Given the description of an element on the screen output the (x, y) to click on. 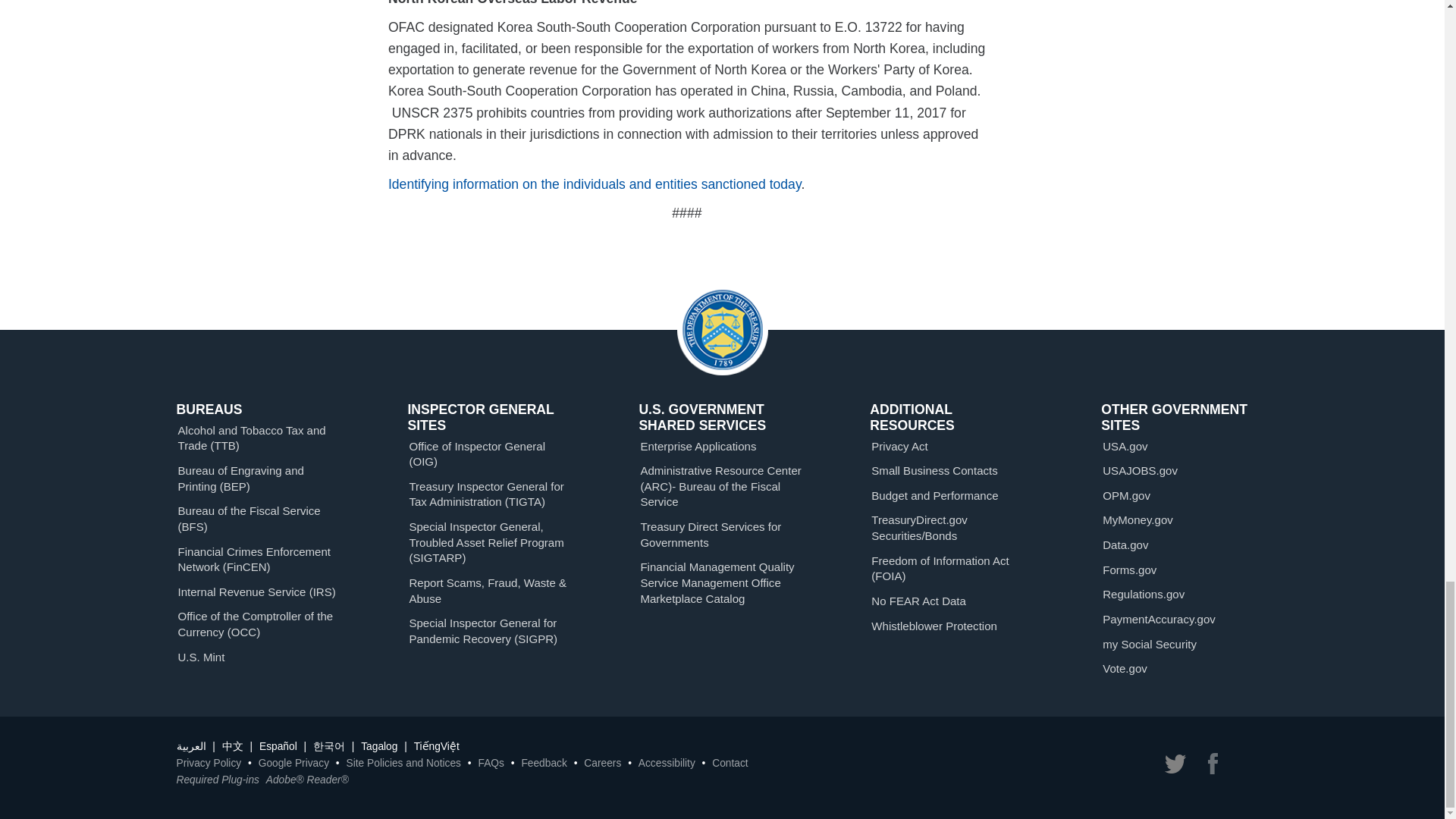
Accessibility (667, 763)
Arabic (190, 746)
Chinese (232, 746)
Careers (602, 763)
Spanish (278, 746)
Privacy Policy (208, 763)
Feedback (543, 763)
Google Privacy (294, 763)
Korean (329, 746)
FAQs (490, 763)
Site Policies and Notices (403, 763)
Vietnamese (436, 746)
Tagalog (379, 746)
